Given the description of an element on the screen output the (x, y) to click on. 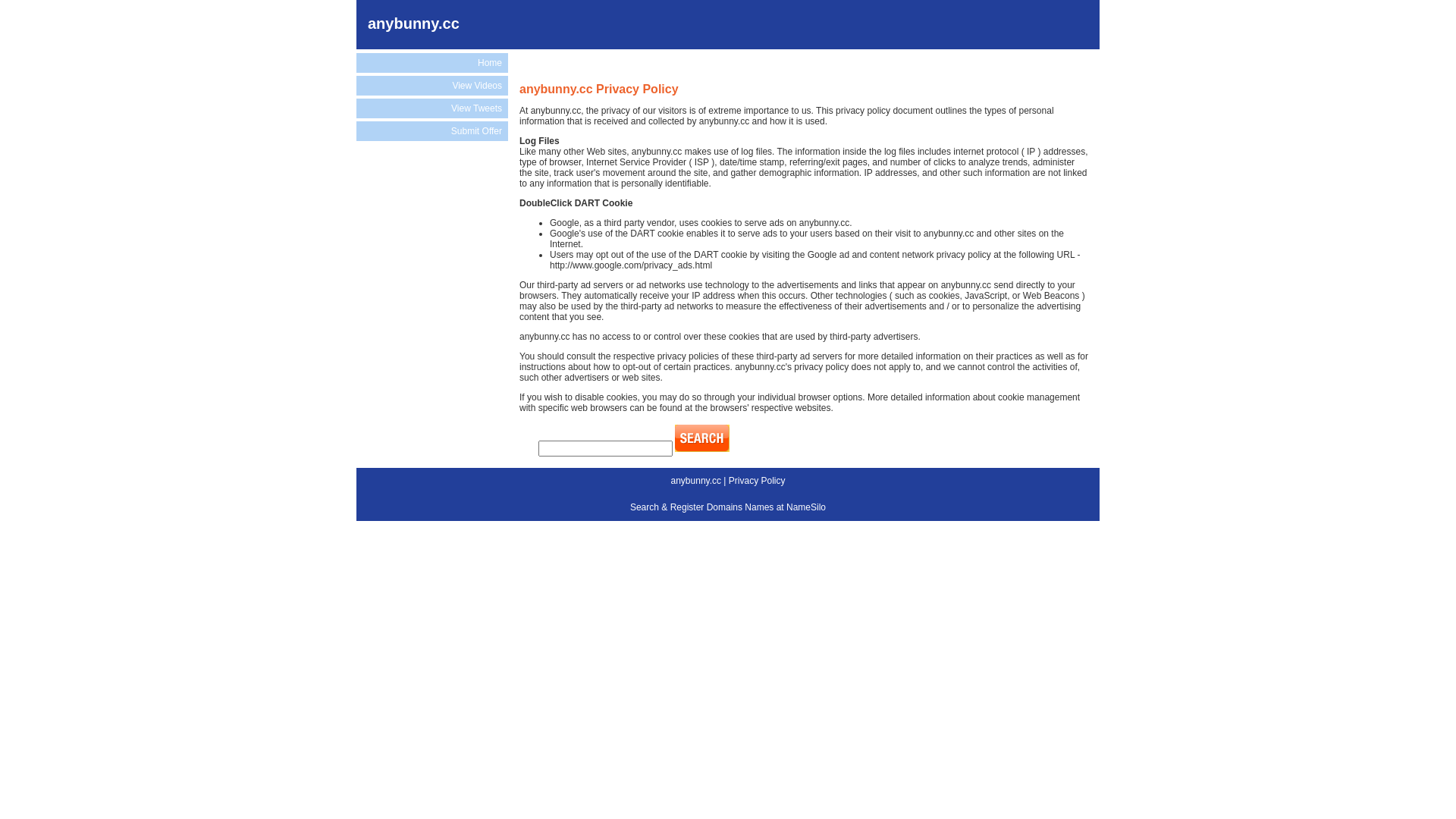
Search & Register Domains Names at NameSilo Element type: text (727, 507)
Submit Offer Element type: text (432, 131)
Home Element type: text (432, 62)
View Videos Element type: text (432, 85)
View Tweets Element type: text (432, 108)
Privacy Policy Element type: text (756, 480)
